Given the description of an element on the screen output the (x, y) to click on. 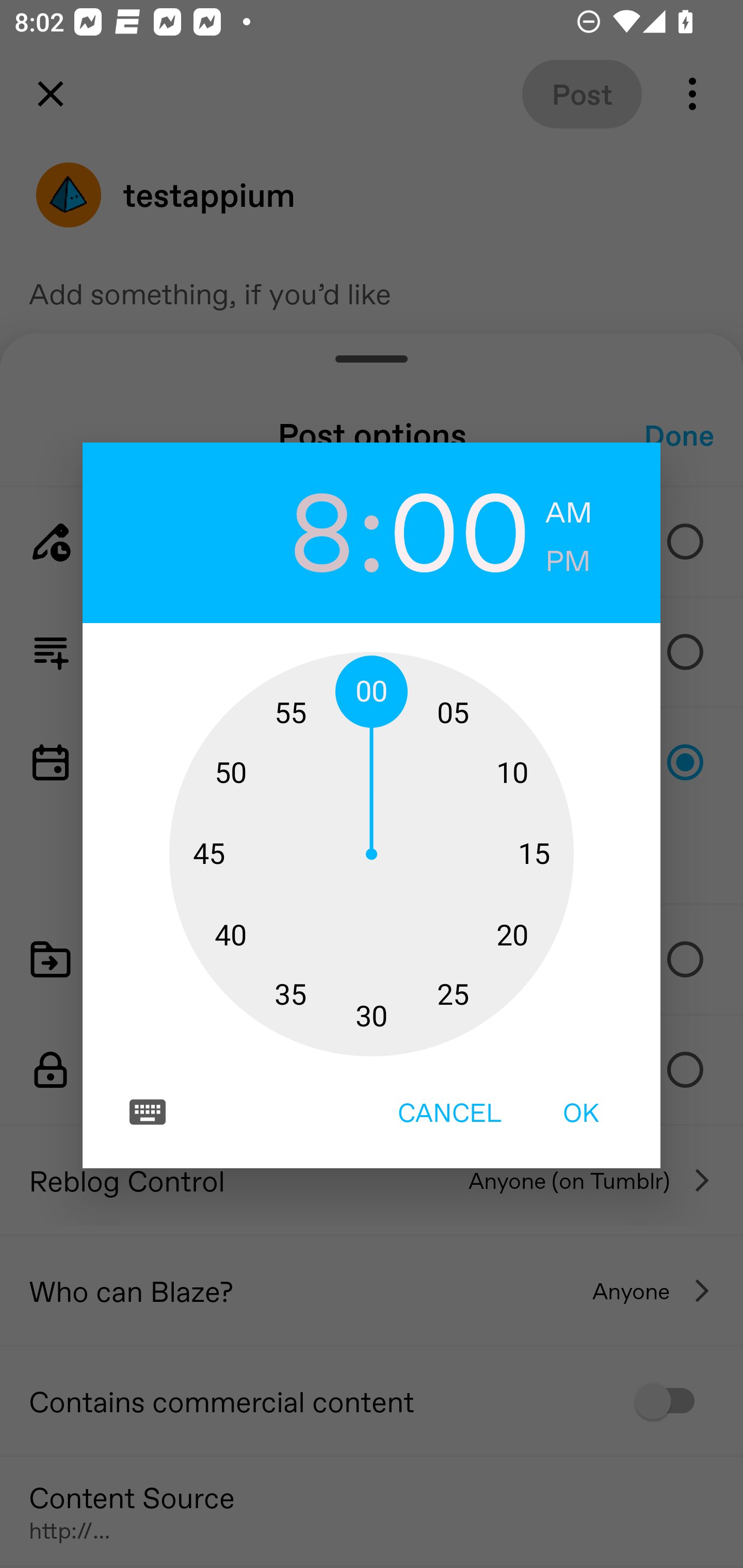
8 (282, 528)
00 (459, 528)
AM (568, 512)
PM (567, 560)
CANCEL (449, 1111)
OK (580, 1111)
Switch to text input mode for the time input. (147, 1112)
